Given the description of an element on the screen output the (x, y) to click on. 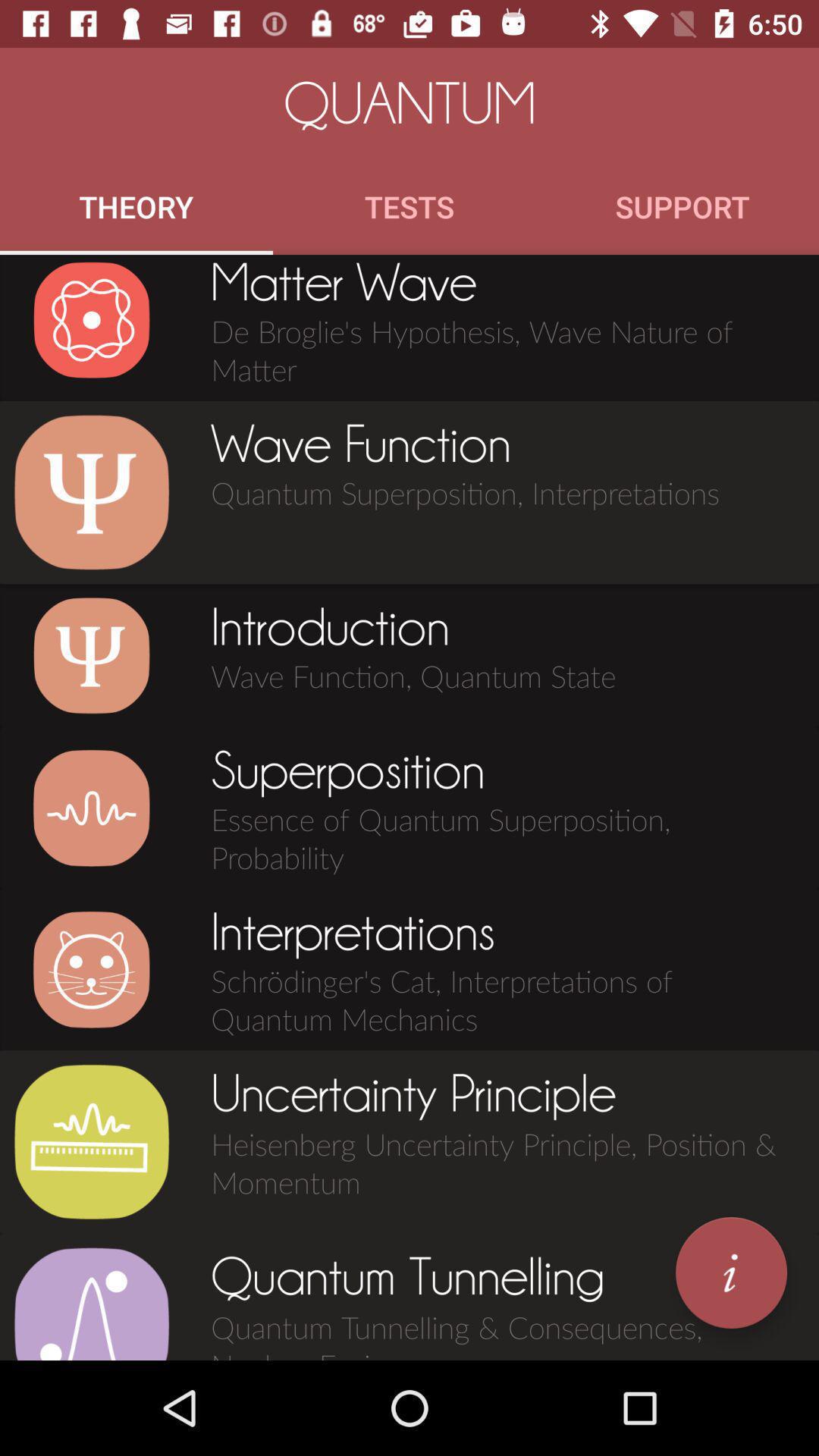
information tab (731, 1272)
